Given the description of an element on the screen output the (x, y) to click on. 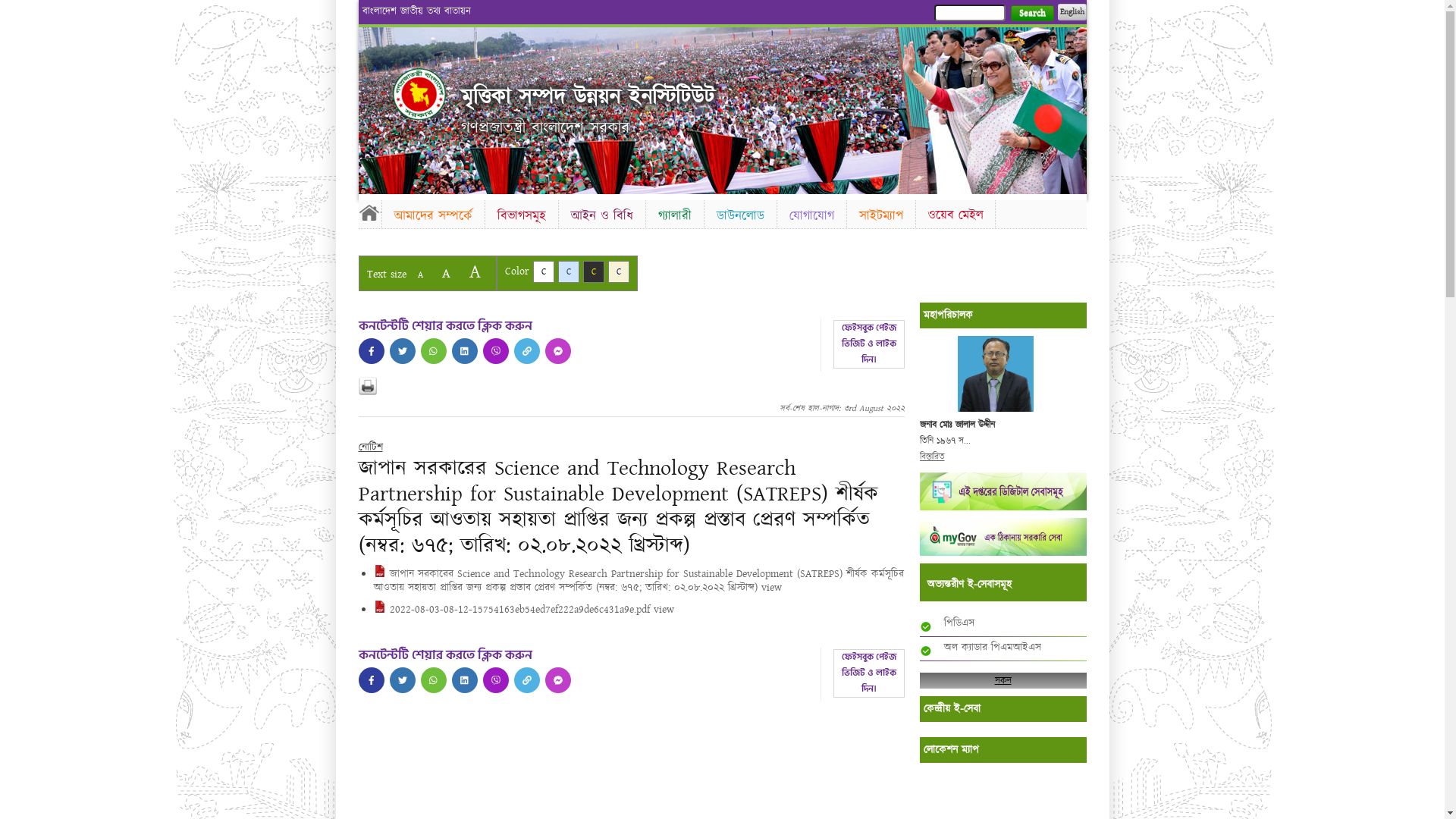
C Element type: text (542, 271)
A Element type: text (474, 271)
C Element type: text (618, 271)
A Element type: text (419, 274)
A Element type: text (445, 273)
C Element type: text (592, 271)
English Element type: text (1071, 11)
Home Element type: hover (418, 93)
view Element type: text (771, 587)
Search Element type: text (1031, 13)
2022-08-03-08-12-15754163eb54ed7ef222a9de6c431a9e.pdf Element type: text (511, 609)
C Element type: text (568, 271)
view Element type: text (663, 609)
Home Element type: hover (368, 211)
